Given the description of an element on the screen output the (x, y) to click on. 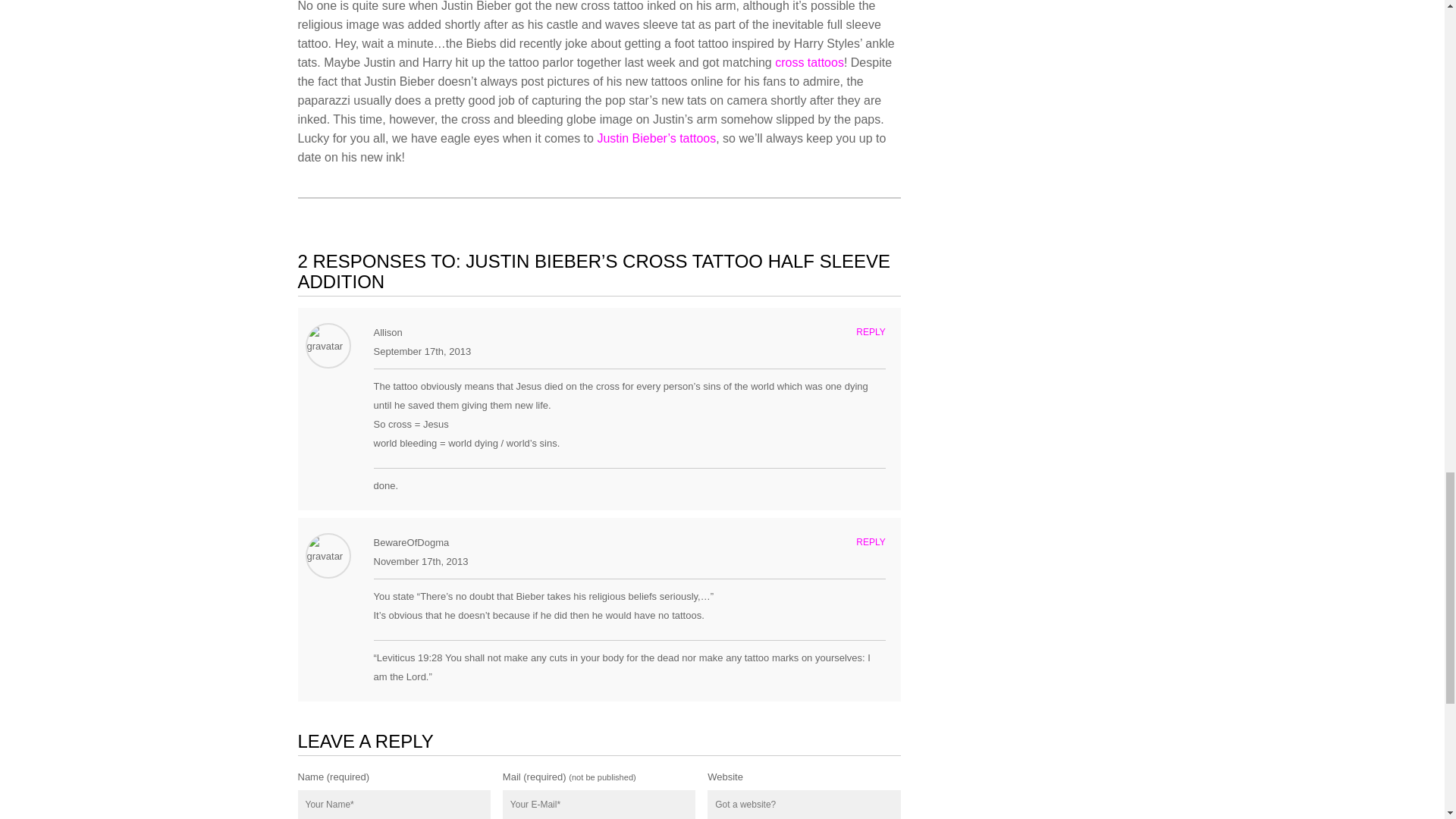
Justin Bieber Tattoos (656, 137)
